Given the description of an element on the screen output the (x, y) to click on. 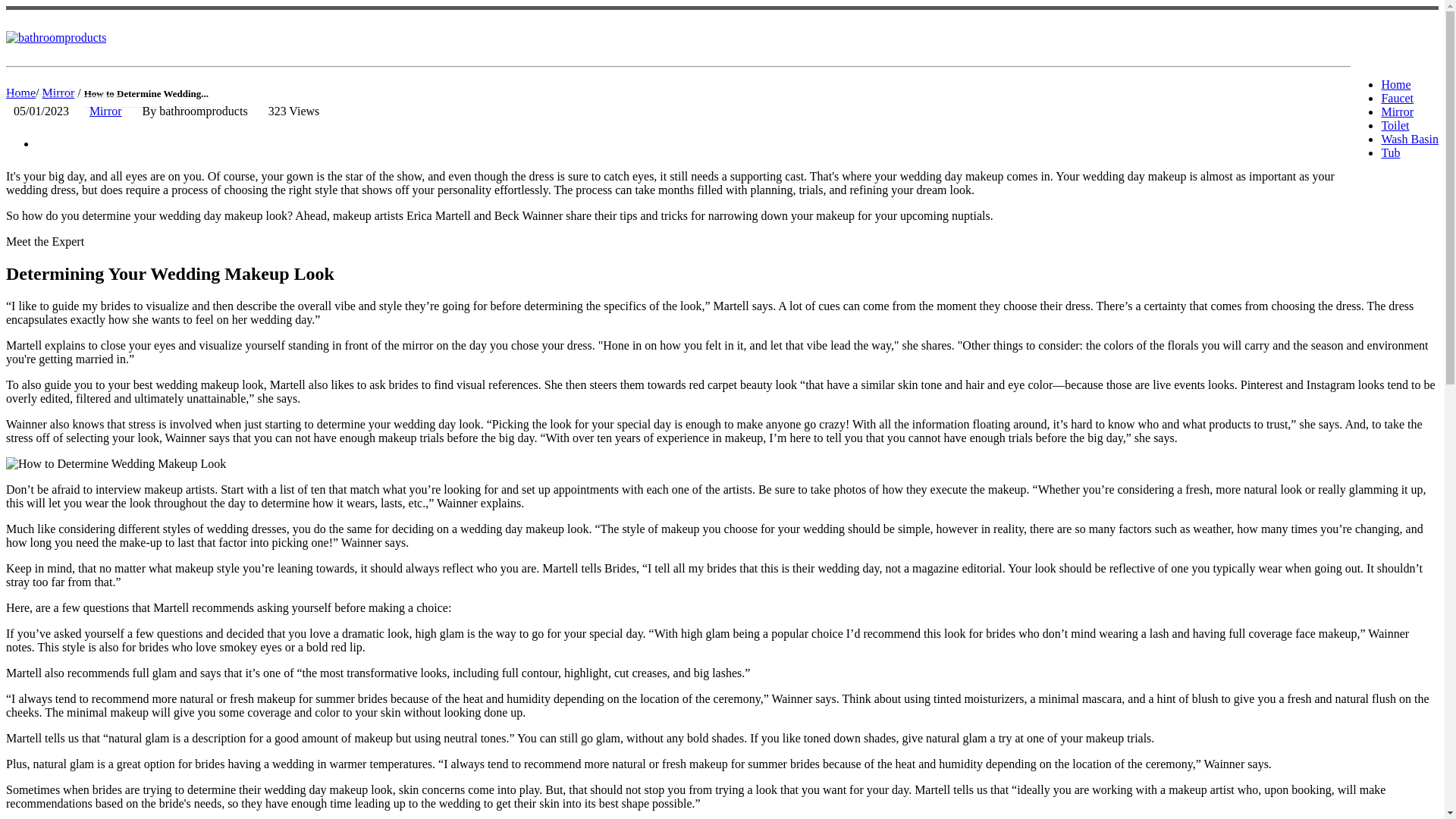
Tub (1389, 152)
Toilet (1394, 124)
bathroomproducts (55, 38)
Mirror (1396, 111)
Mirror (105, 110)
Toilet (1394, 124)
Faucet (1396, 97)
Tub (1389, 152)
Faucet (1396, 97)
How to Determine Wedding Makeup Look (115, 463)
